Given the description of an element on the screen output the (x, y) to click on. 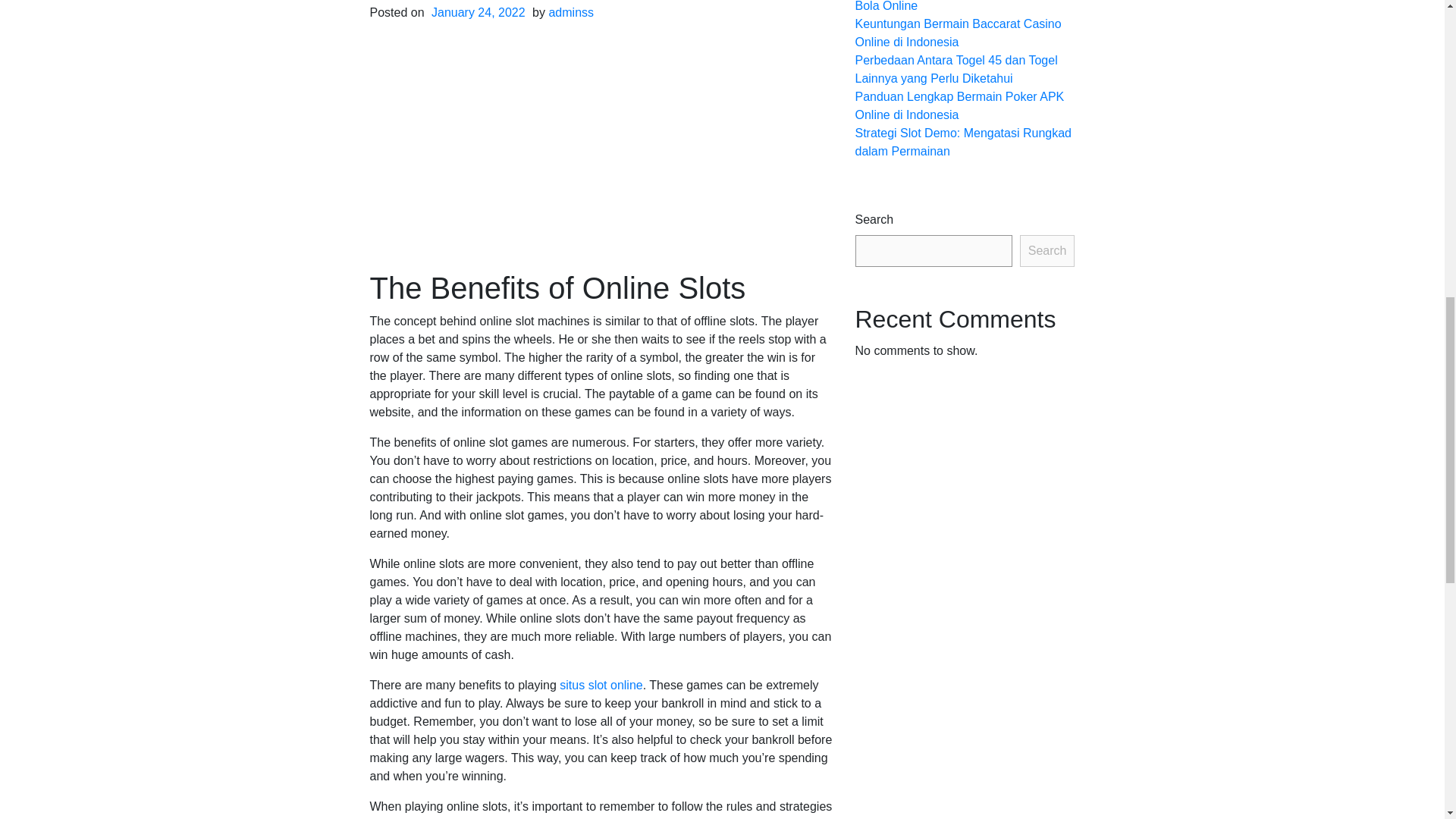
January 24, 2022 (478, 11)
adminss (571, 11)
situs slot online (600, 684)
